Given the description of an element on the screen output the (x, y) to click on. 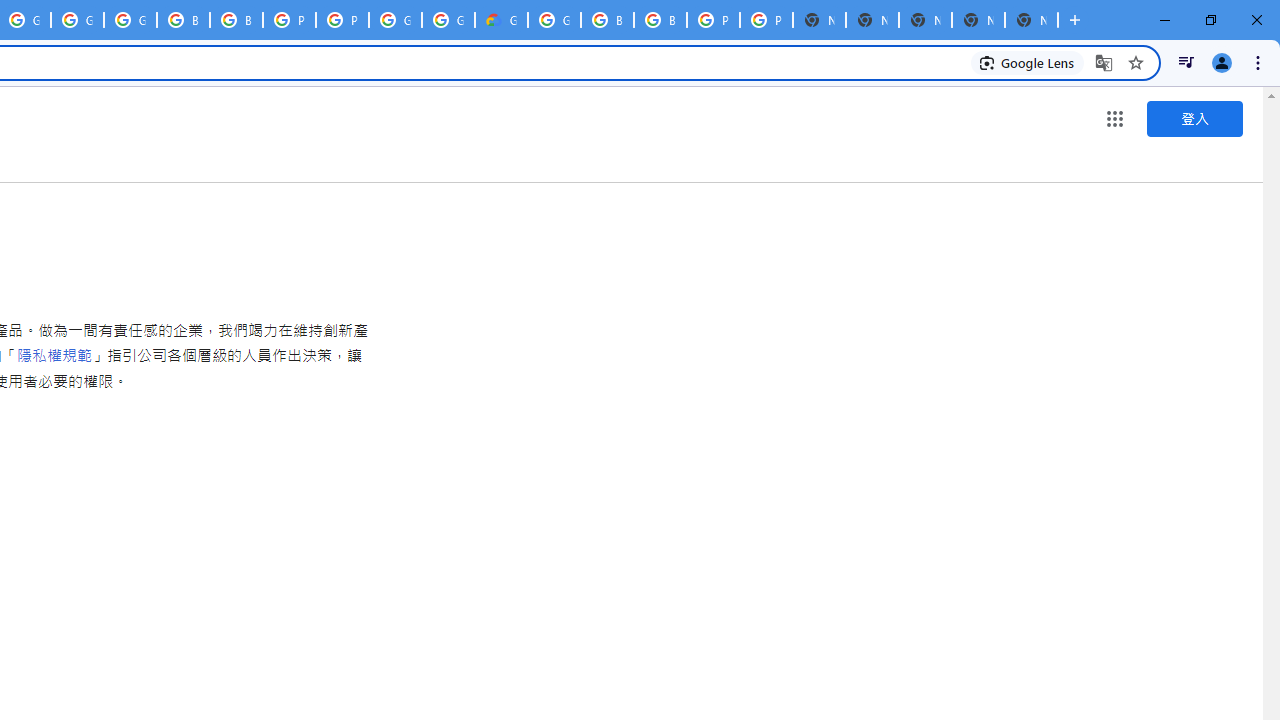
Translate this page (1103, 62)
Google Cloud Platform (554, 20)
Search with Google Lens (1027, 62)
Google Cloud Platform (395, 20)
